Given the description of an element on the screen output the (x, y) to click on. 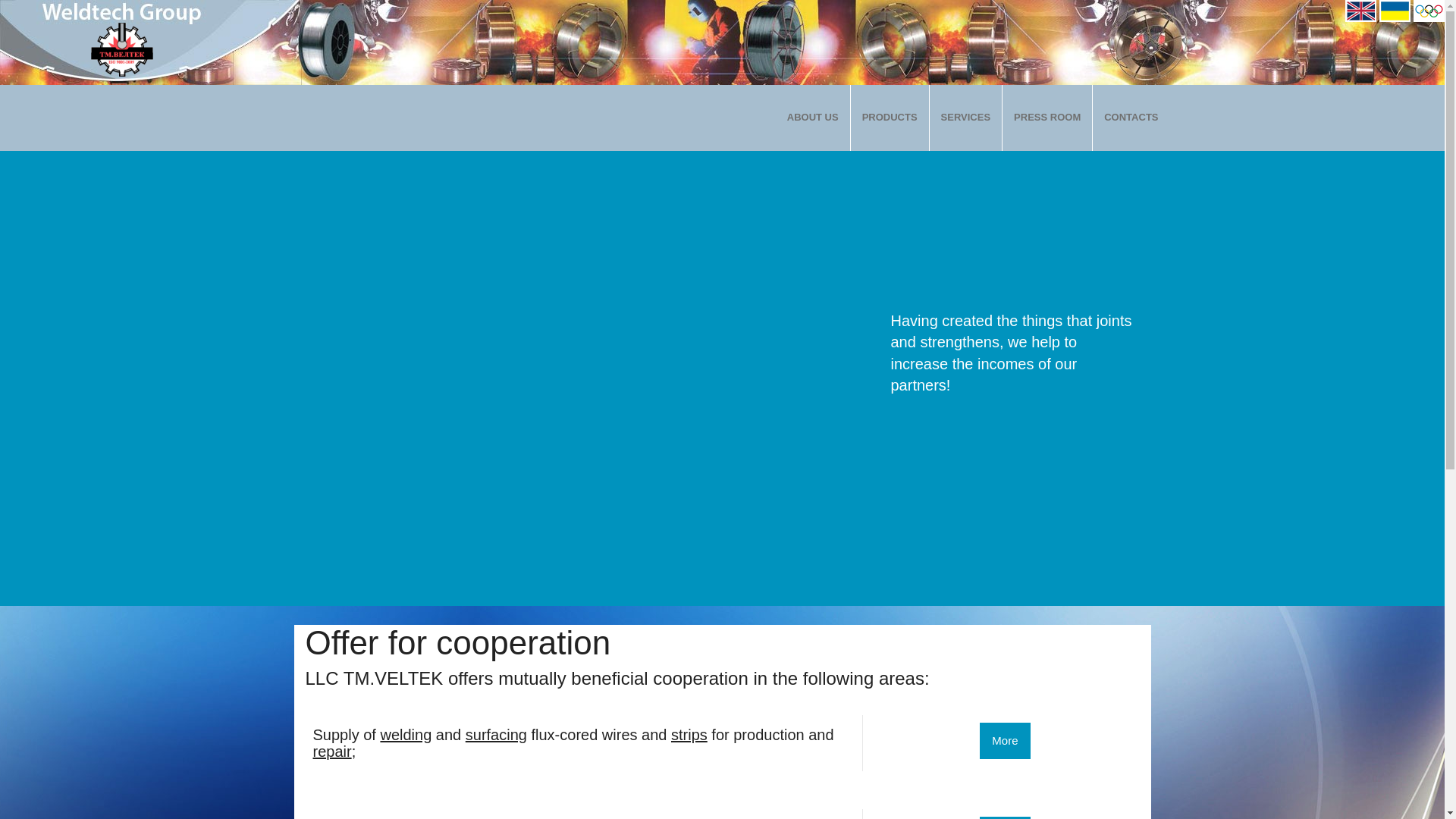
repair (331, 751)
PRESS ROOM (1048, 117)
More (1004, 740)
SERVICES (966, 117)
welding (405, 734)
CONTACTS (1131, 117)
PRODUCTS (890, 117)
ABOUT US (813, 117)
Read in English (1360, 9)
